Given the description of an element on the screen output the (x, y) to click on. 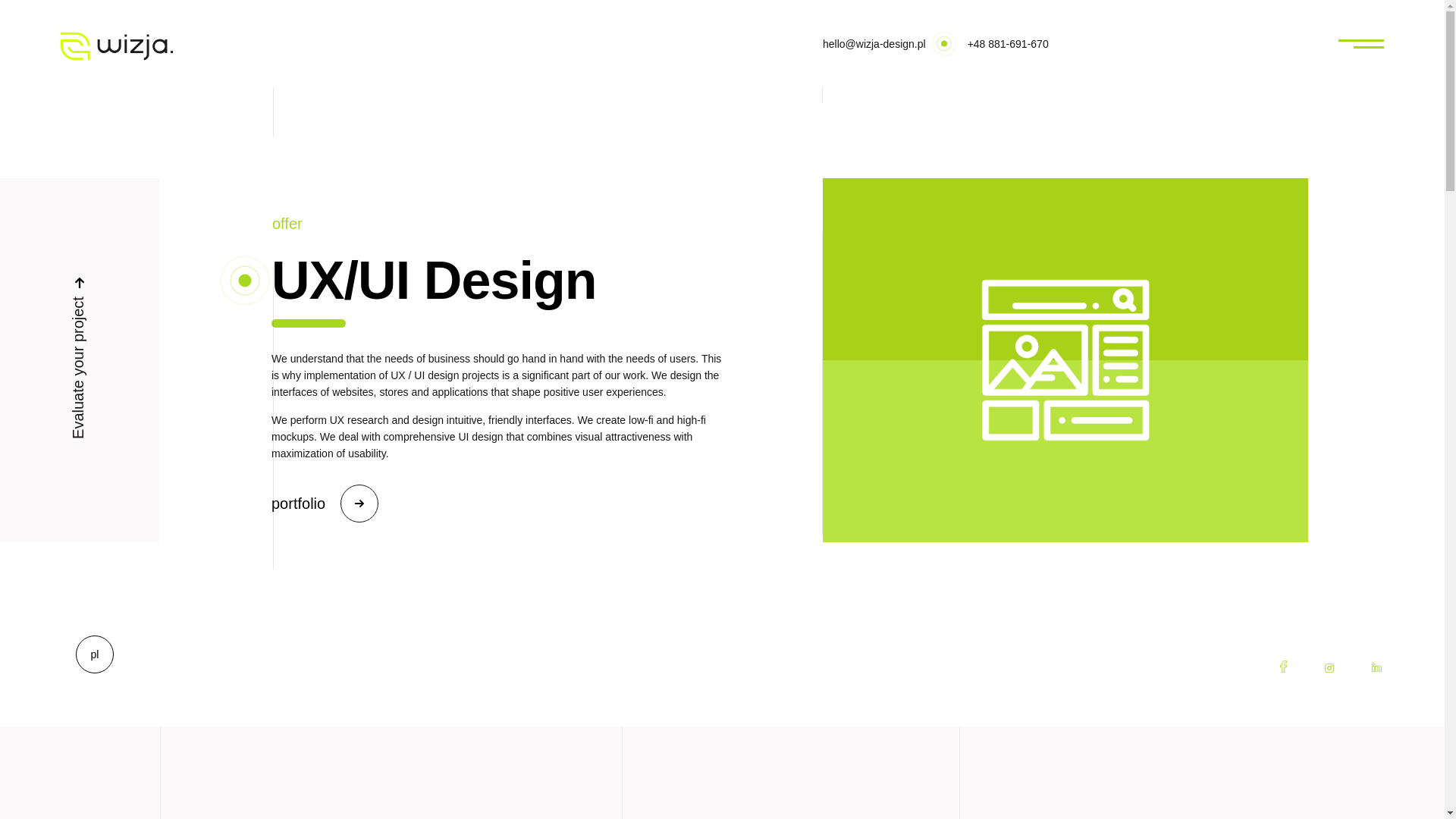
pl (95, 654)
